Given the description of an element on the screen output the (x, y) to click on. 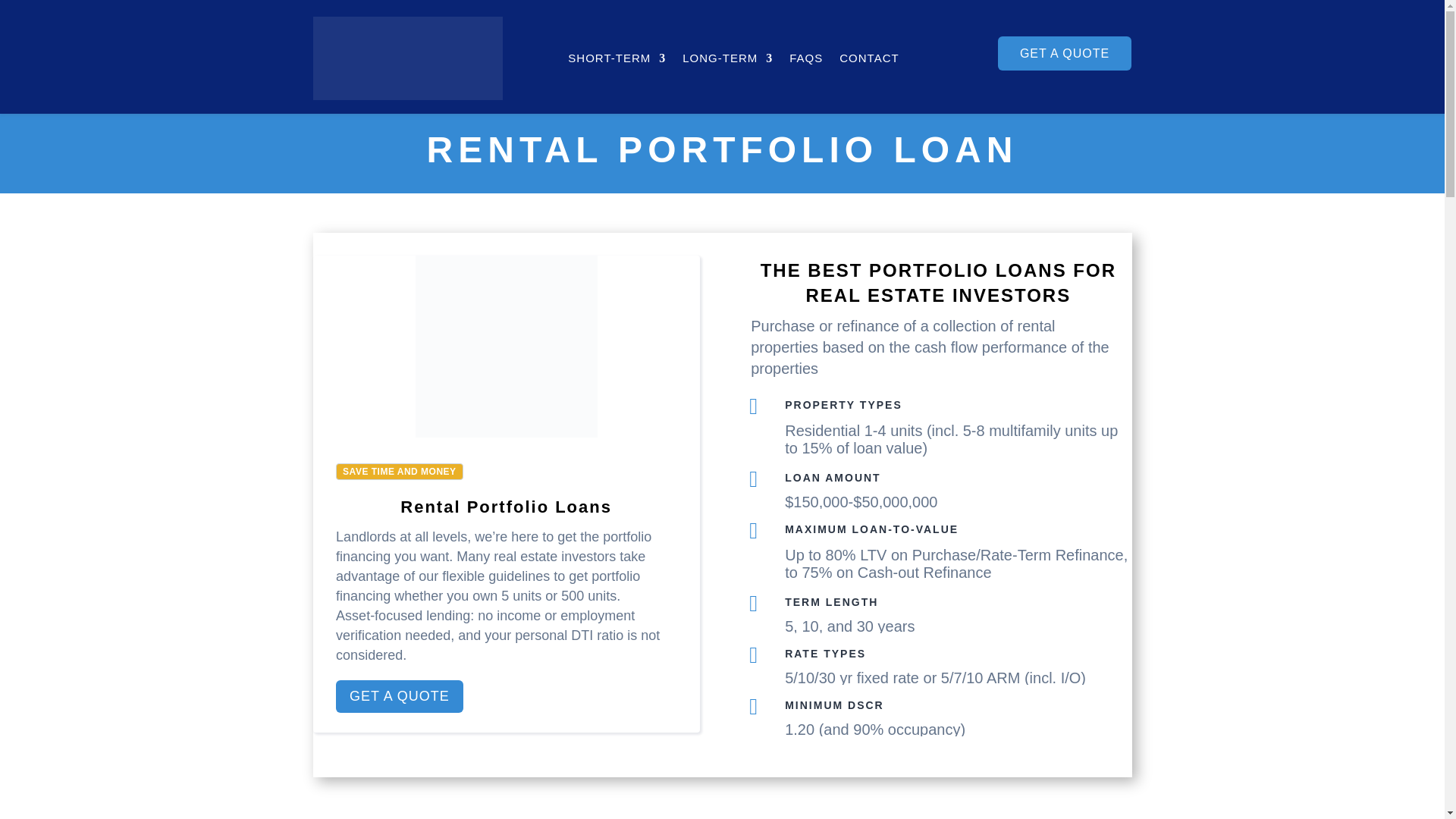
SAVE TIME AND MONEY (399, 471)
GET A QUOTE (399, 696)
GET A QUOTE (1064, 53)
LONG-TERM (727, 57)
icon1-house1 (505, 346)
SHORT-TERM (616, 57)
